Given the description of an element on the screen output the (x, y) to click on. 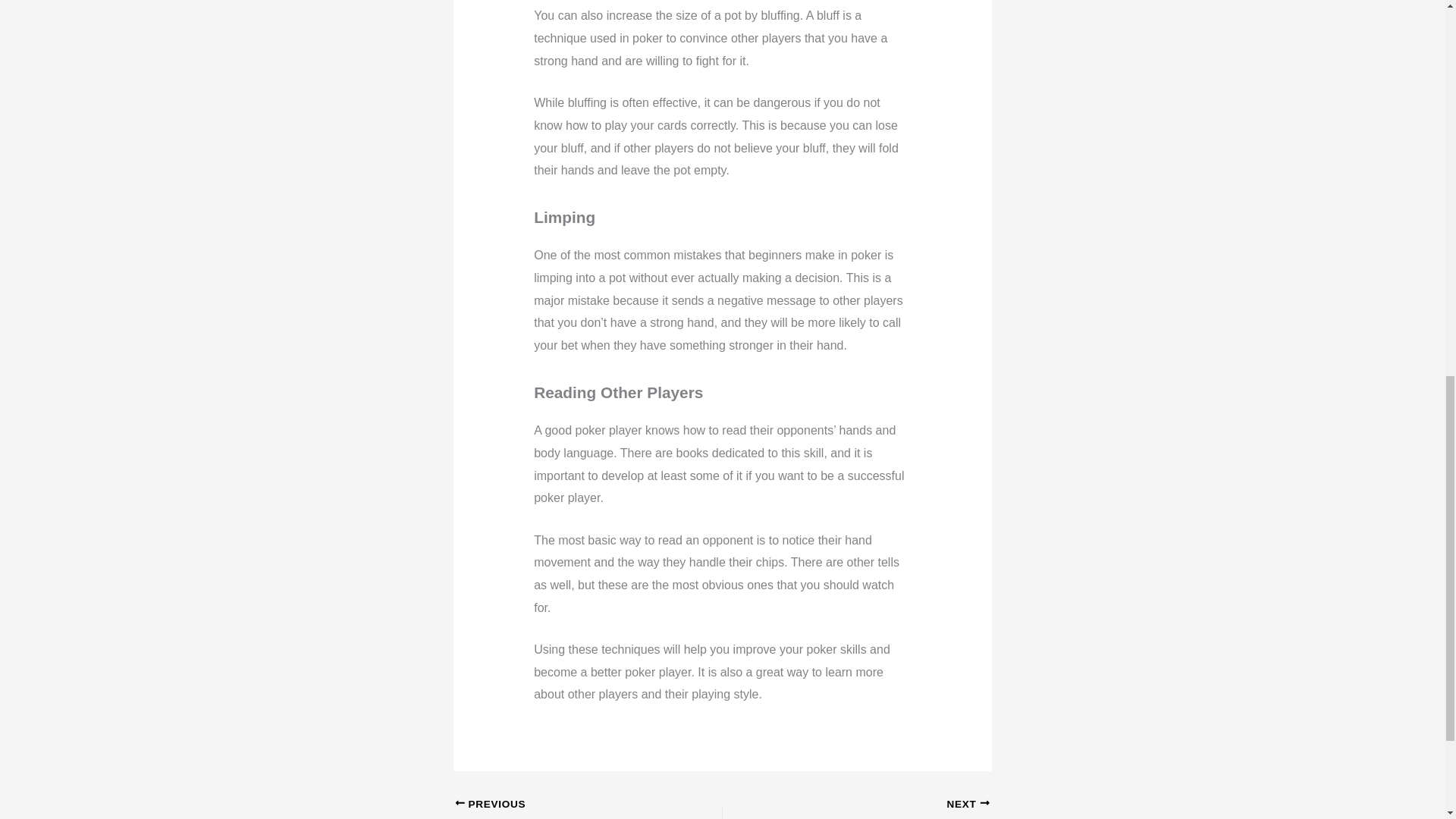
How to Define Religion (561, 807)
How to Make Money in Sports Betting (923, 807)
